Given the description of an element on the screen output the (x, y) to click on. 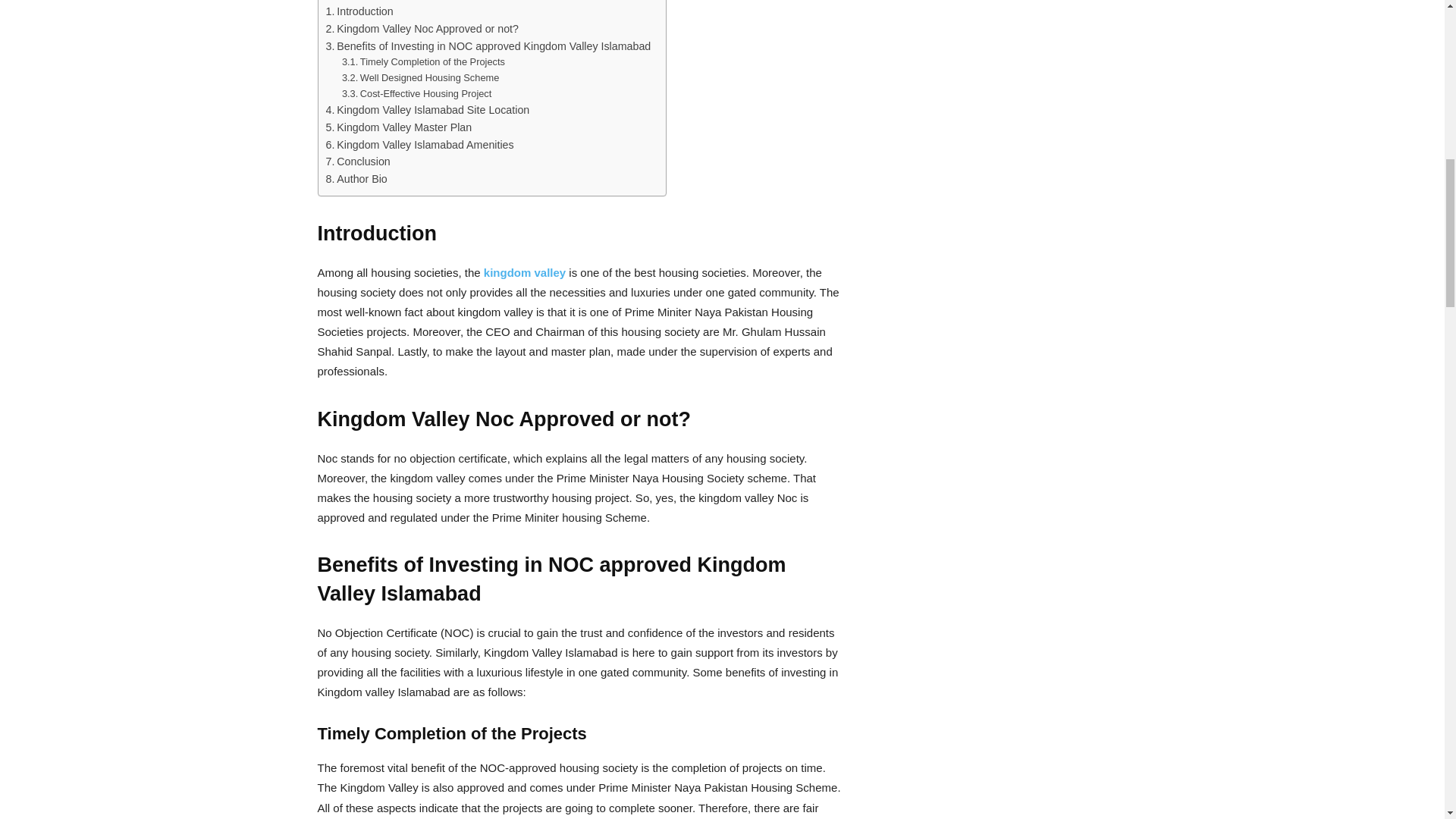
Well Designed Housing Scheme (420, 78)
Introduction (359, 11)
Kingdom Valley Noc Approved or not? (422, 28)
Timely Completion of the Projects (423, 62)
